Given the description of an element on the screen output the (x, y) to click on. 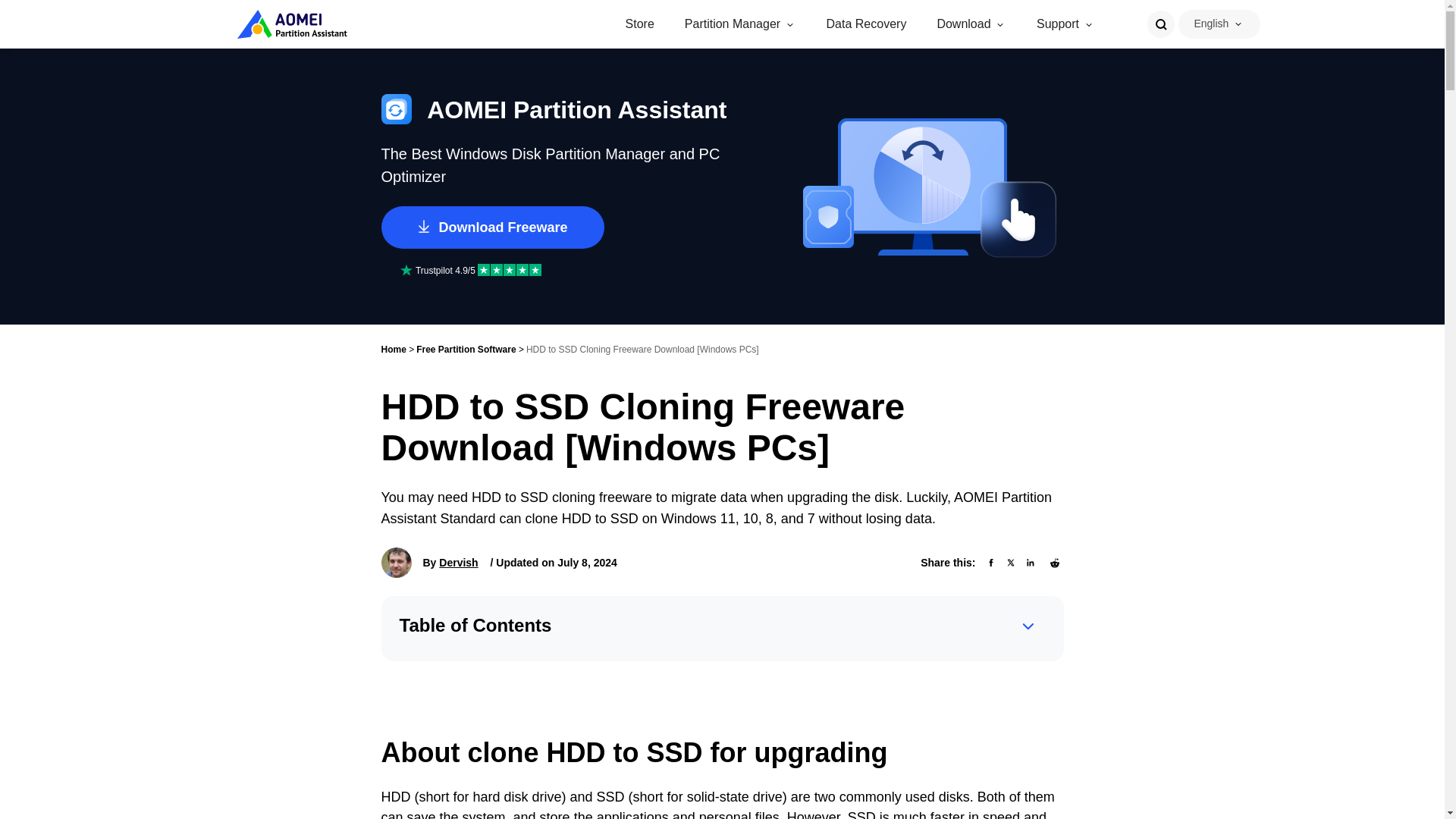
English (1210, 23)
Support (1057, 23)
Download Freeware (492, 227)
Partition Manager (732, 23)
Dervish (458, 562)
Search (1160, 23)
Data Recovery (867, 23)
Free Partition Software (465, 349)
Store (639, 23)
Download (963, 23)
Home (393, 349)
